Given the description of an element on the screen output the (x, y) to click on. 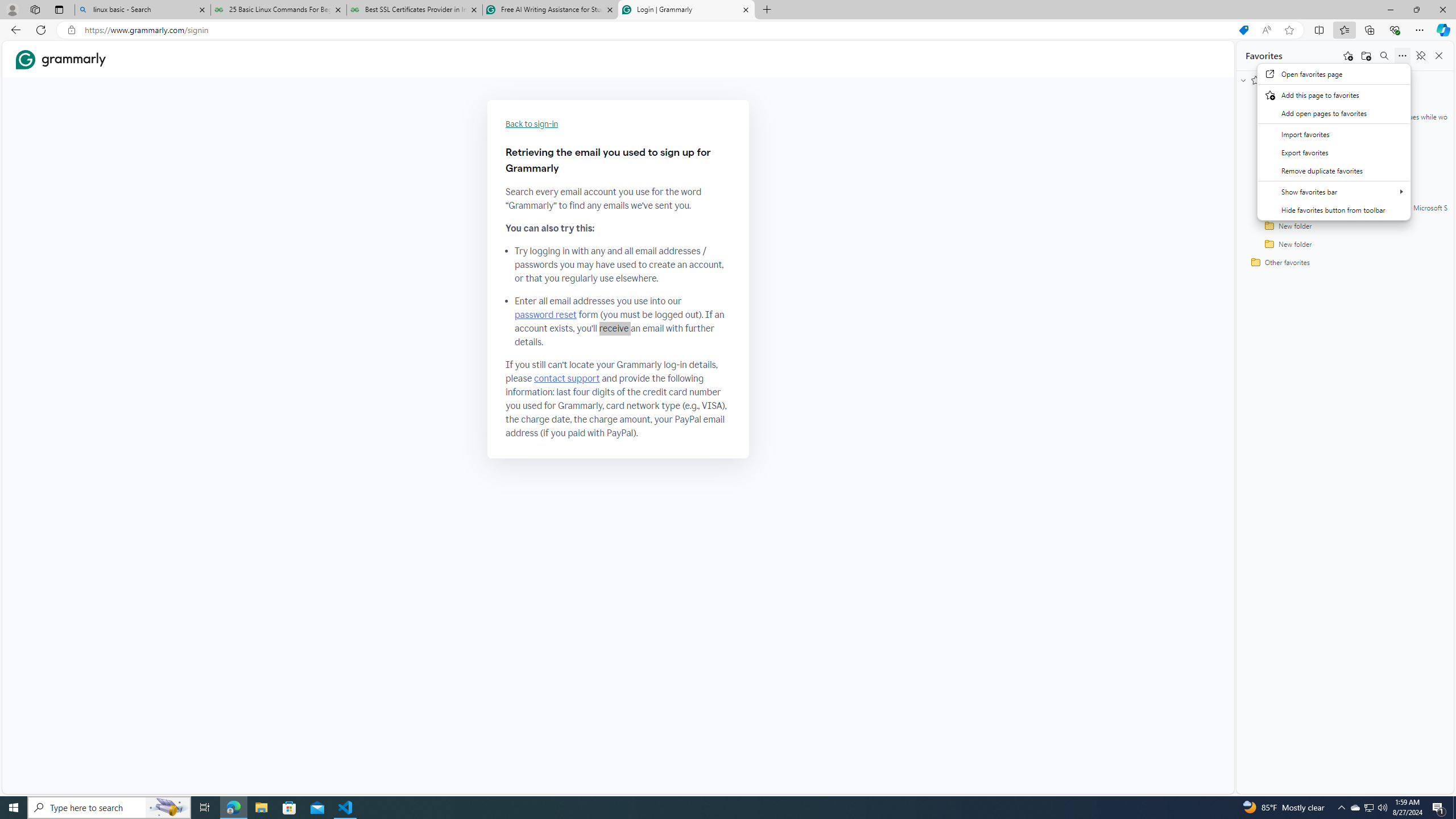
Context (1333, 148)
Show favorites bar (1333, 191)
Grammarly Home (61, 58)
